Given the description of an element on the screen output the (x, y) to click on. 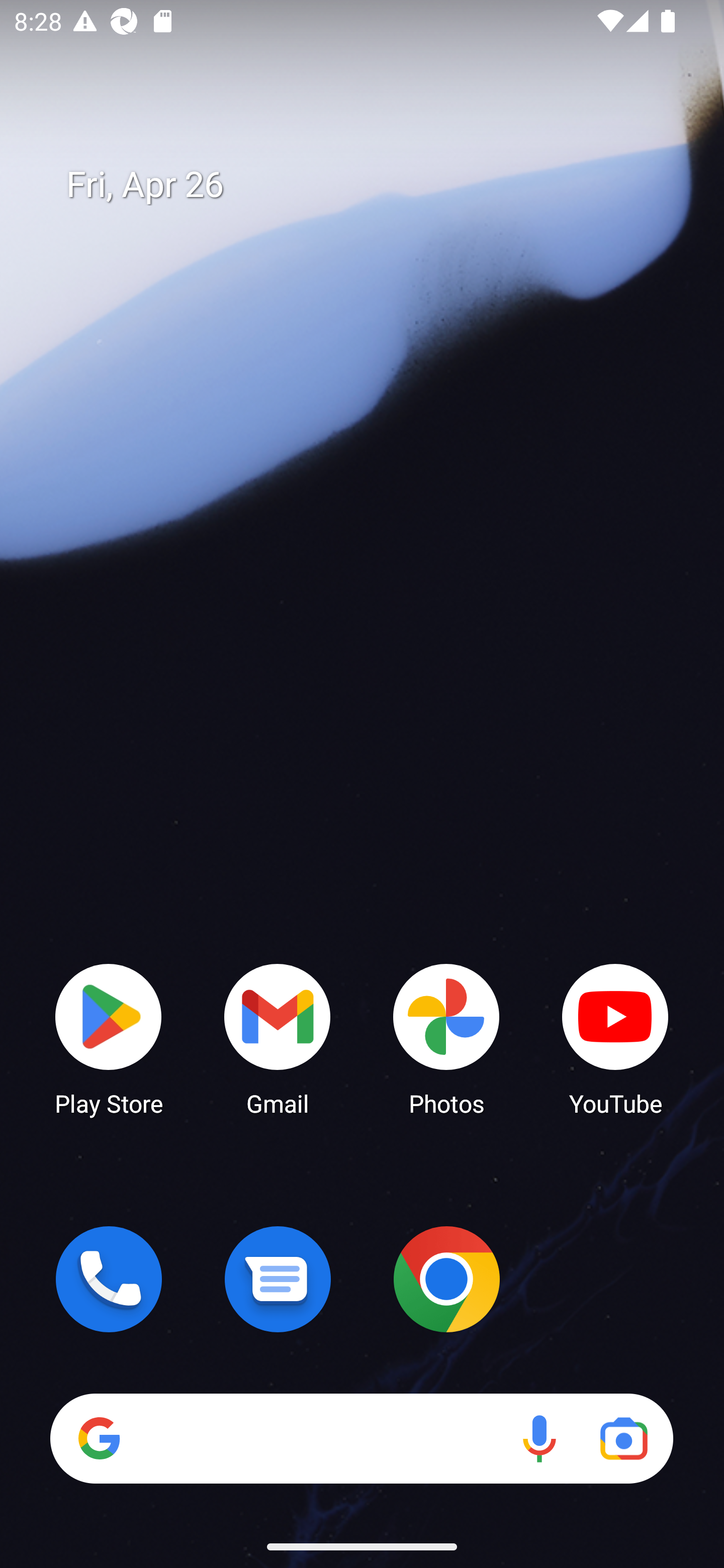
Fri, Apr 26 (375, 184)
Play Store (108, 1038)
Gmail (277, 1038)
Photos (445, 1038)
YouTube (615, 1038)
Phone (108, 1279)
Messages (277, 1279)
Chrome (446, 1279)
Search Voice search Google Lens (361, 1438)
Voice search (539, 1438)
Google Lens (623, 1438)
